Given the description of an element on the screen output the (x, y) to click on. 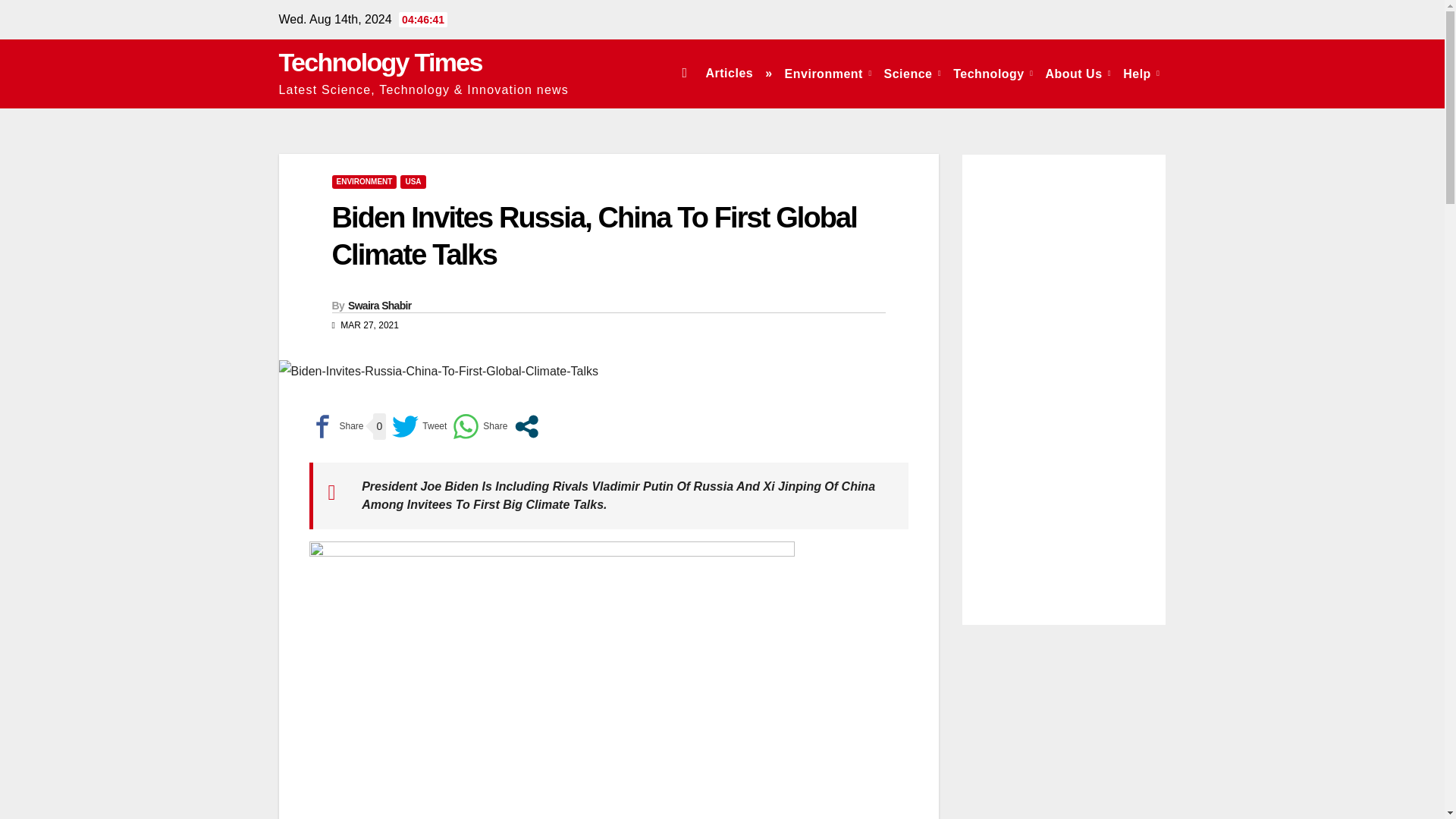
About Us (1077, 73)
Science (912, 73)
Technology (993, 73)
Technology Times (380, 61)
Environment (827, 73)
Science (912, 73)
Environment (827, 73)
Technology (993, 73)
